Given the description of an element on the screen output the (x, y) to click on. 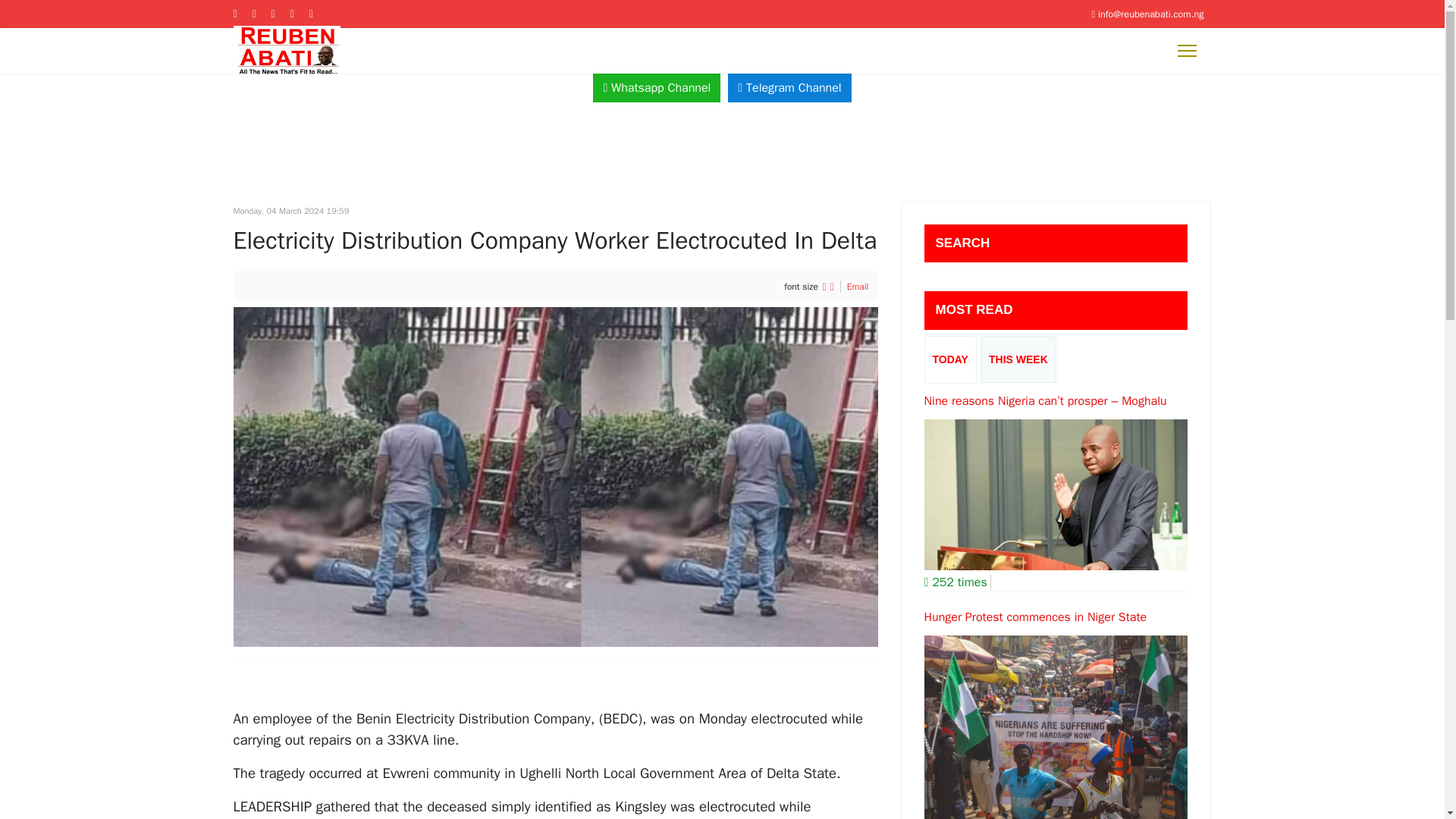
Telegram Channel (789, 87)
Whatsapp Channel (656, 87)
Email (858, 286)
